Given the description of an element on the screen output the (x, y) to click on. 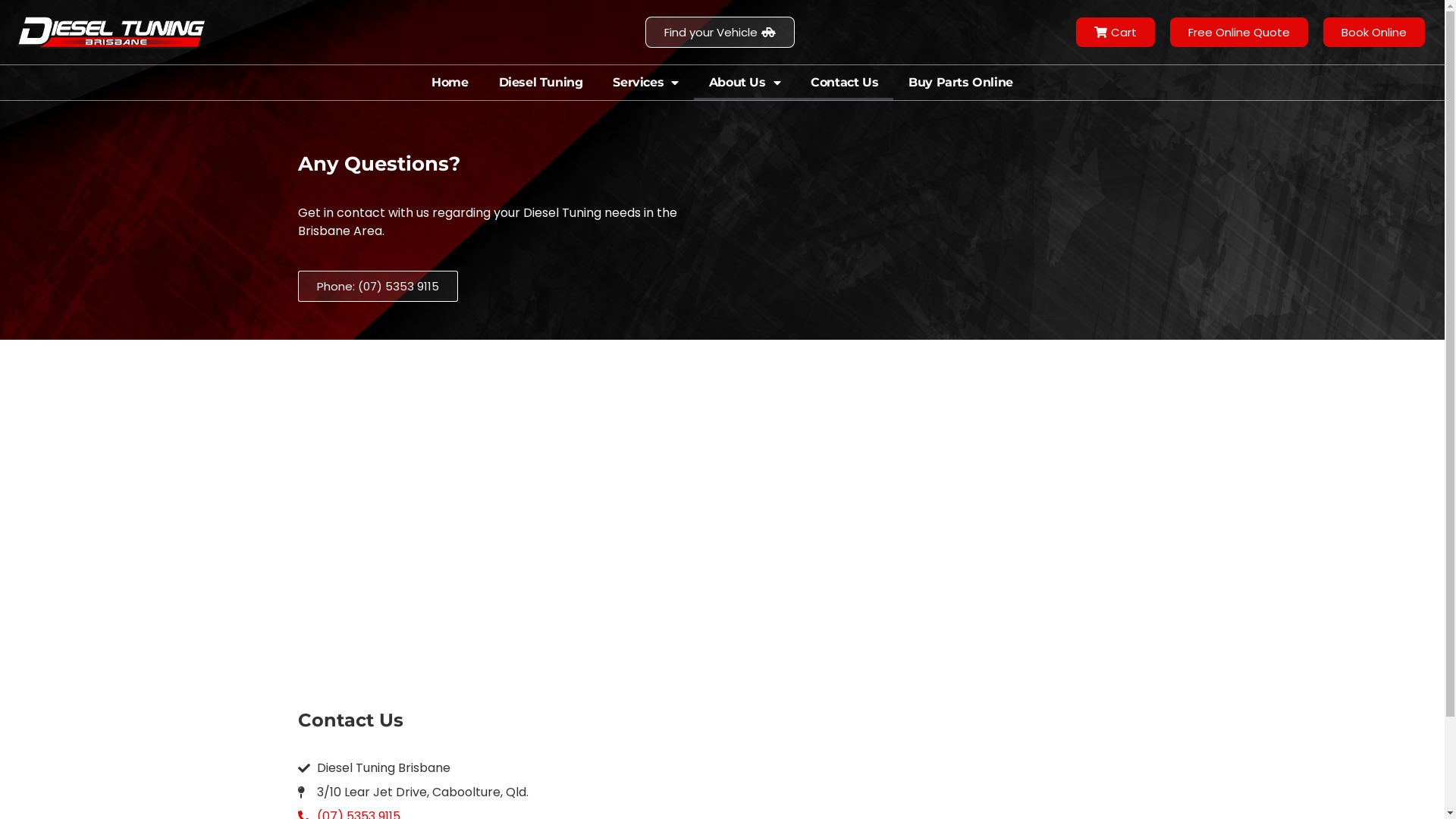
Free Online Quote Element type: text (1239, 32)
Cart Element type: text (1115, 32)
Services Element type: text (645, 82)
Find your Vehicle Element type: text (719, 31)
Home Element type: text (449, 82)
Book Online Element type: text (1373, 32)
About Us Element type: text (744, 82)
3/10 Lear Jet Drive Caboolture. Queensland Element type: hover (722, 517)
Diesel Tuning Element type: text (540, 82)
Phone: (07) 5353 9115 Element type: text (377, 285)
Contact Us Element type: text (844, 82)
Buy Parts Online Element type: text (960, 82)
